Given the description of an element on the screen output the (x, y) to click on. 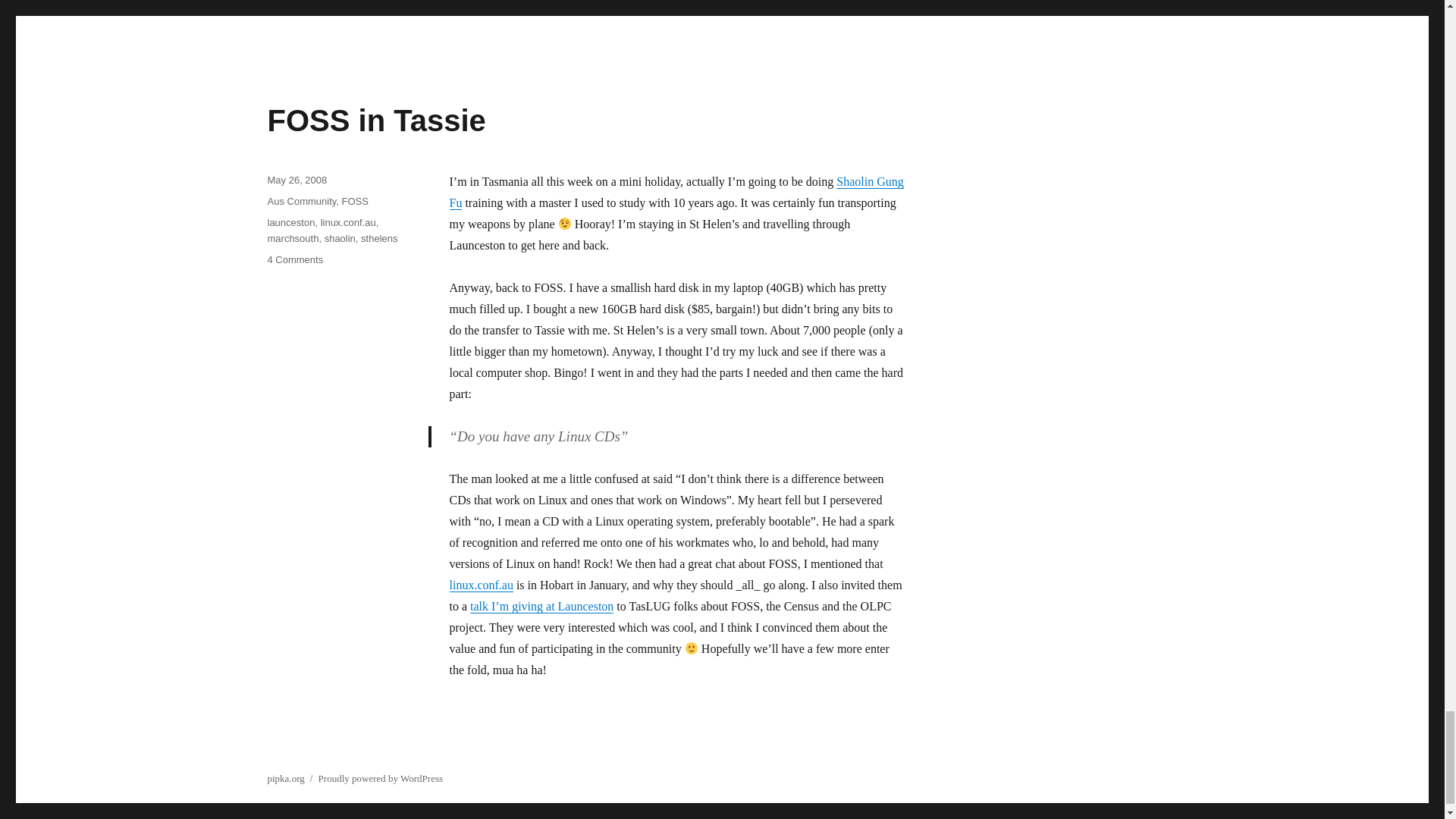
FOSS (355, 201)
launceston (290, 222)
sthelens (379, 238)
FOSS in Tassie (375, 120)
Shaolin Gung Fu (675, 192)
linux.conf.au (347, 222)
shaolin (339, 238)
May 26, 2008 (296, 179)
linux.conf.au (294, 259)
marchsouth (480, 584)
Aus Community (292, 238)
